Given the description of an element on the screen output the (x, y) to click on. 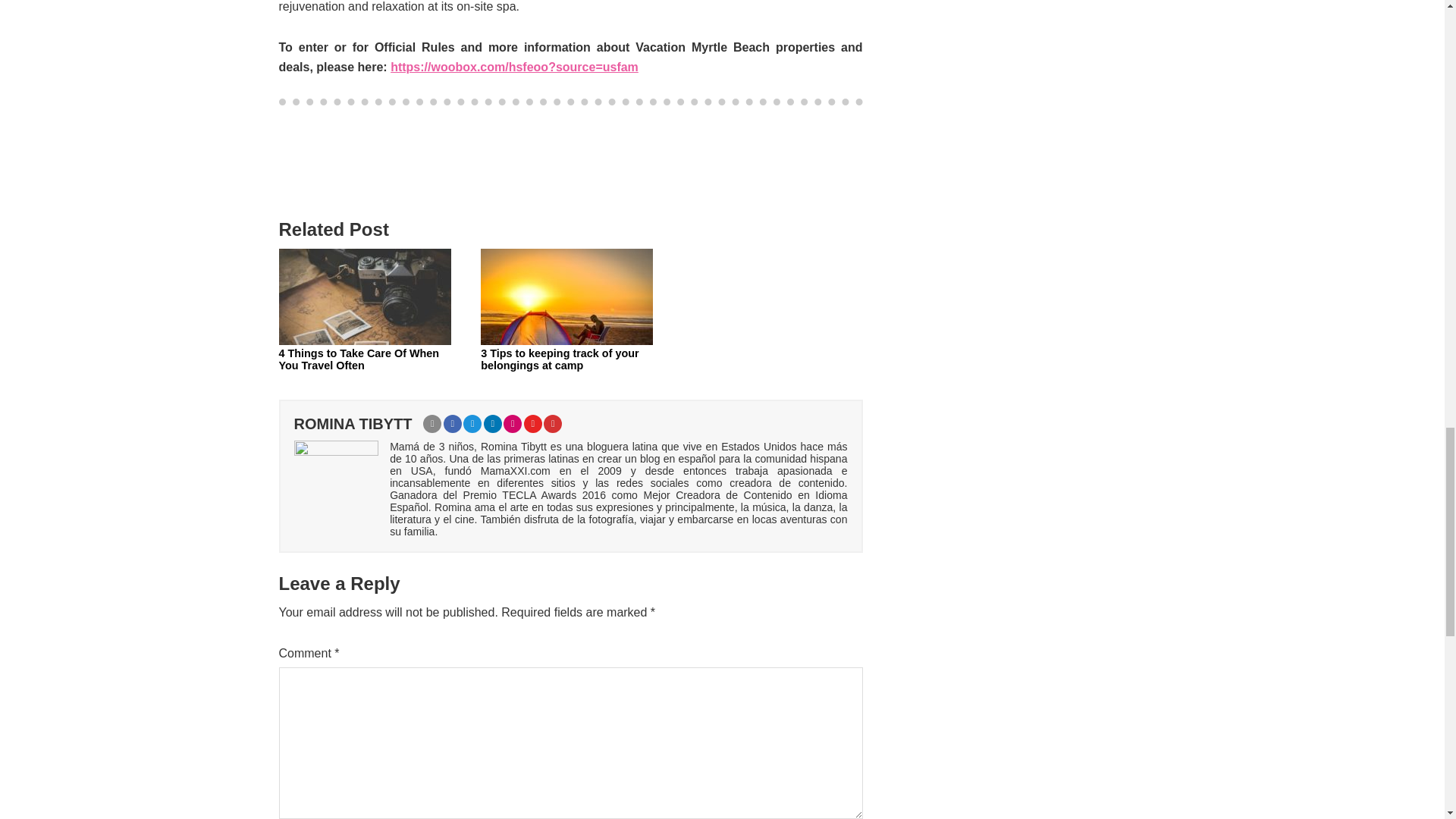
4 Things to Take Care Of When You Travel Often (368, 359)
3 Tips to keeping track of your belongings at camp (570, 359)
